Given the description of an element on the screen output the (x, y) to click on. 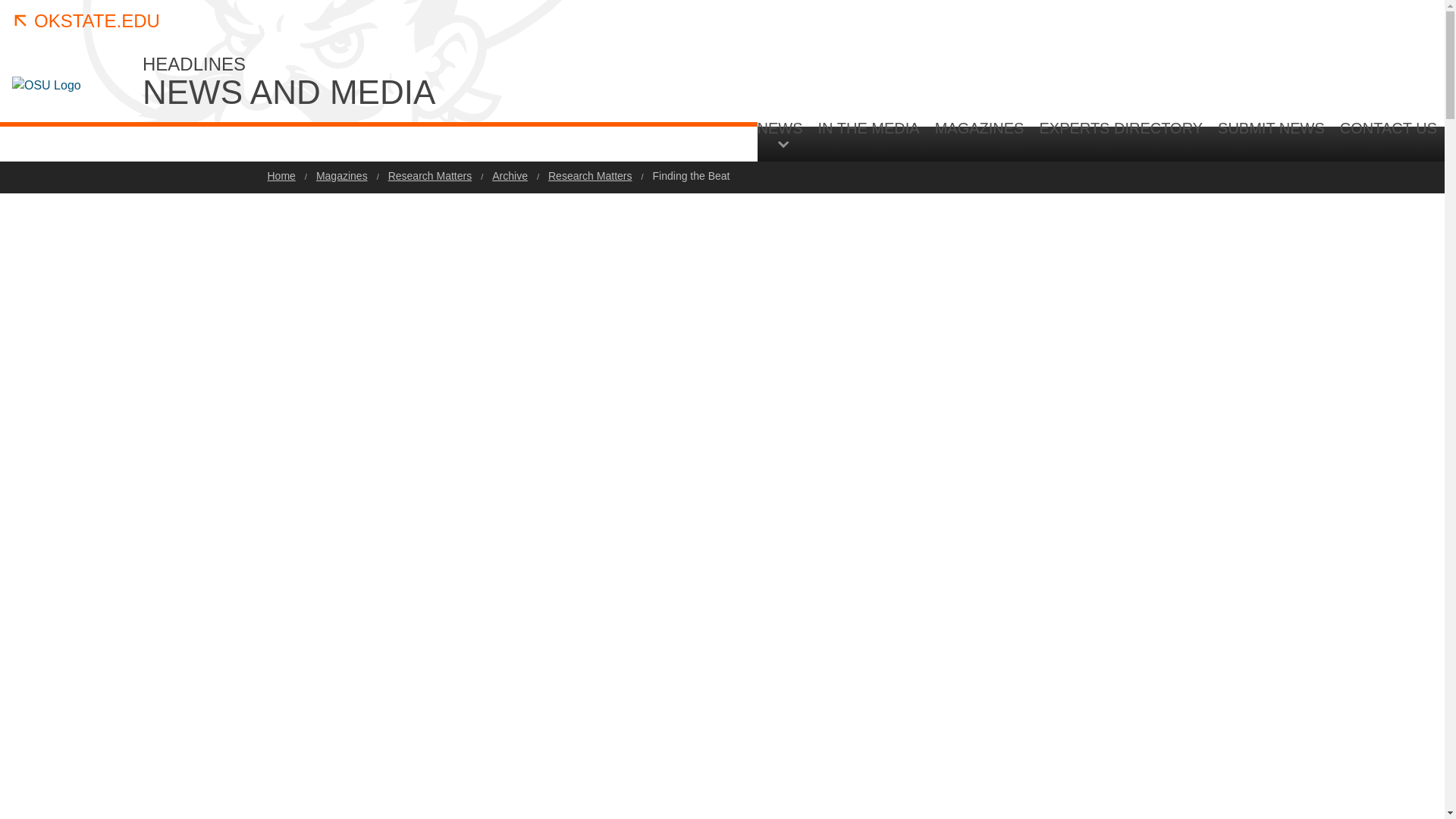
Research Matters (589, 175)
Research Matters (429, 175)
OKSTATE.EDU (85, 21)
SUBMIT NEWS (1270, 139)
Magazines (341, 175)
IN THE MEDIA (868, 139)
Archive (509, 175)
EXPERTS DIRECTORY (1119, 139)
Home (280, 175)
